Given the description of an element on the screen output the (x, y) to click on. 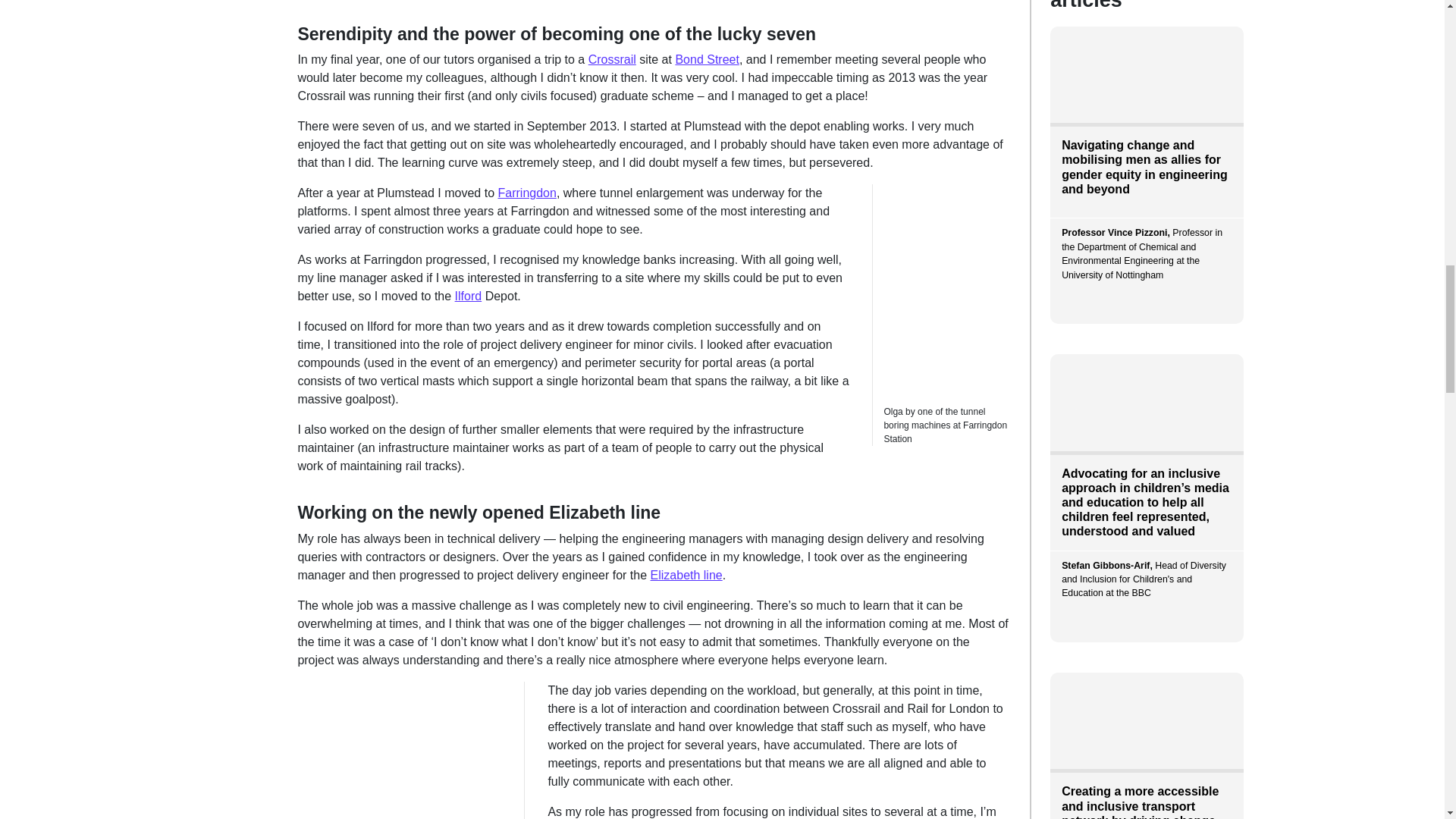
Farringdon (526, 192)
Elizabeth line (686, 574)
Crossrail (612, 59)
Ilford (467, 295)
Bond Street (707, 59)
